Given the description of an element on the screen output the (x, y) to click on. 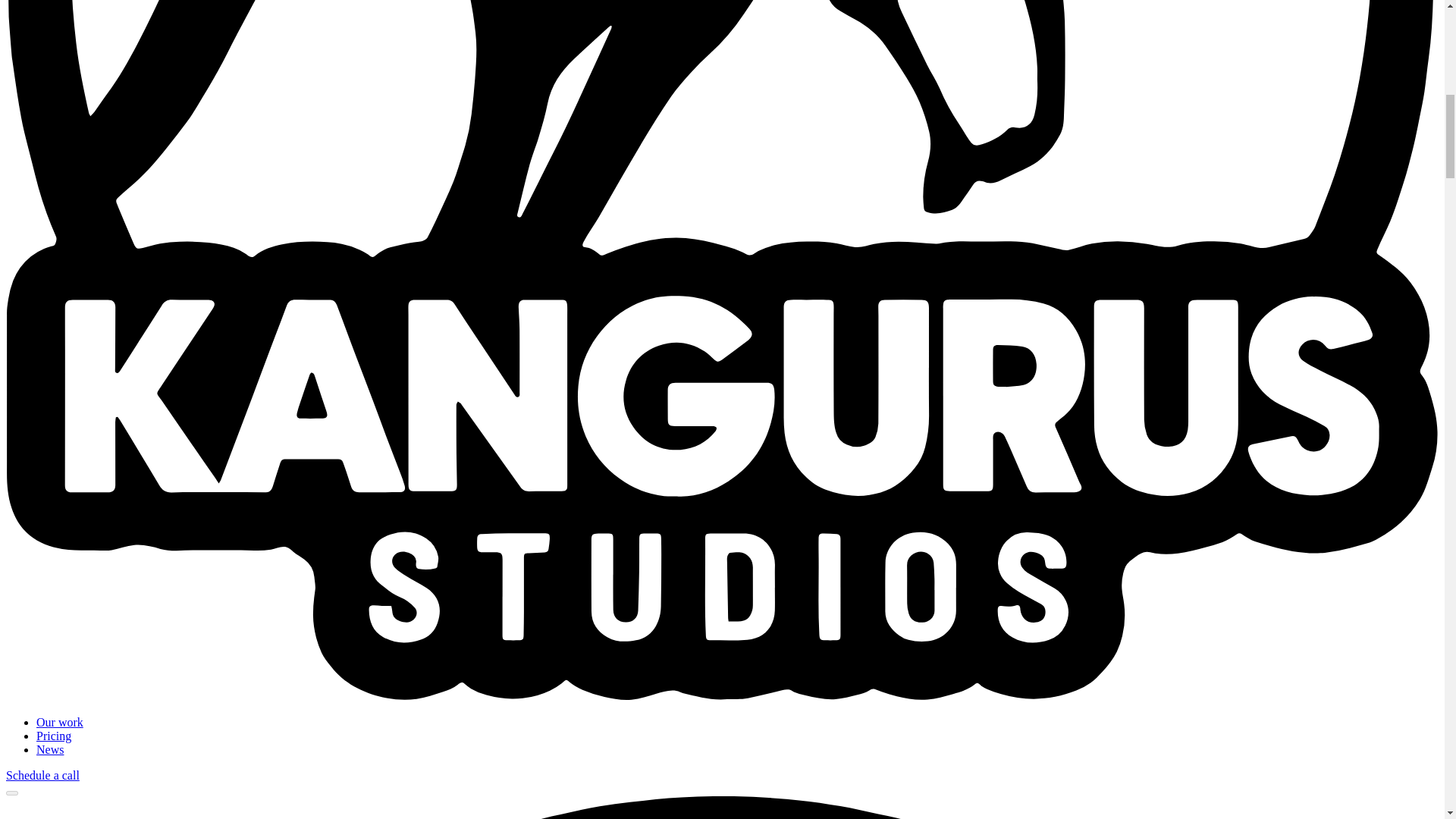
Our work (59, 721)
Schedule a call (42, 775)
News (50, 748)
Pricing (53, 735)
